Given the description of an element on the screen output the (x, y) to click on. 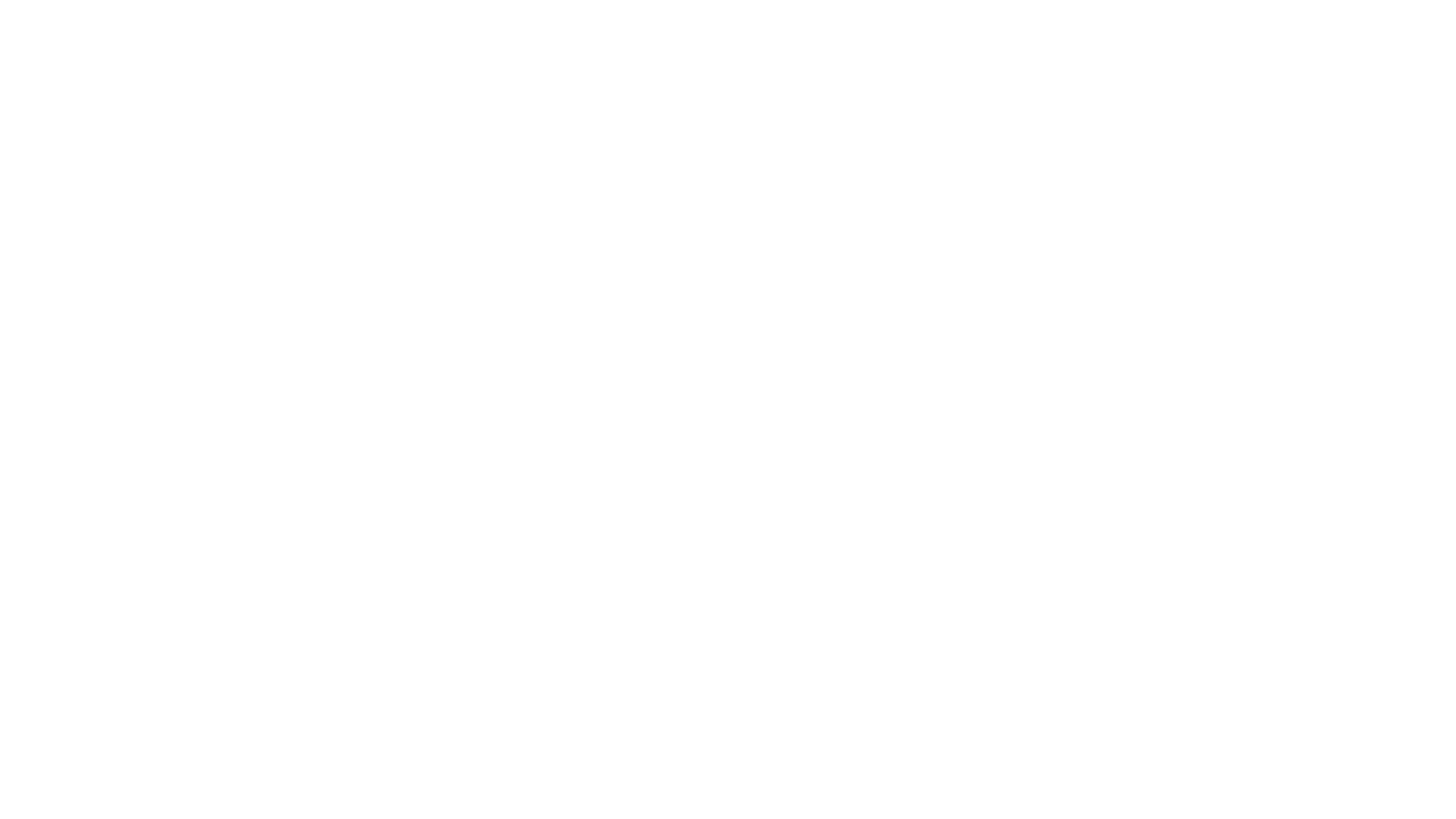
Cloudflare Element type: text (798, 799)
